Given the description of an element on the screen output the (x, y) to click on. 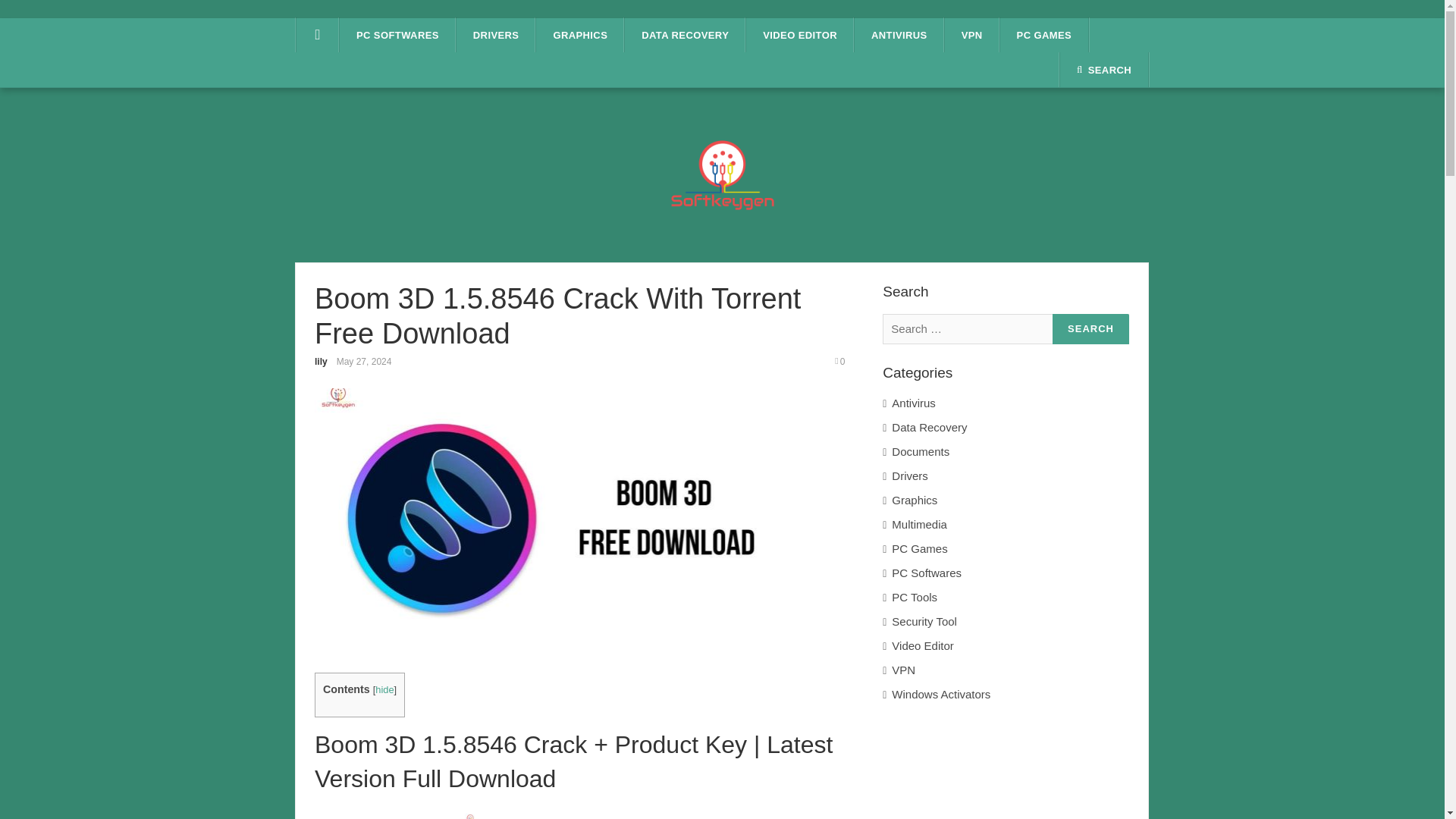
DRIVERS (496, 35)
Search (1090, 328)
lily (320, 361)
Data Recovery (1010, 427)
Documents (1010, 452)
Search (1090, 328)
VPN (971, 35)
GRAPHICS (579, 35)
hide (384, 689)
PC Games (1010, 548)
PC GAMES (1044, 35)
Antivirus (1010, 402)
Drivers (1010, 475)
SEARCH (1104, 70)
Search (1090, 328)
